Given the description of an element on the screen output the (x, y) to click on. 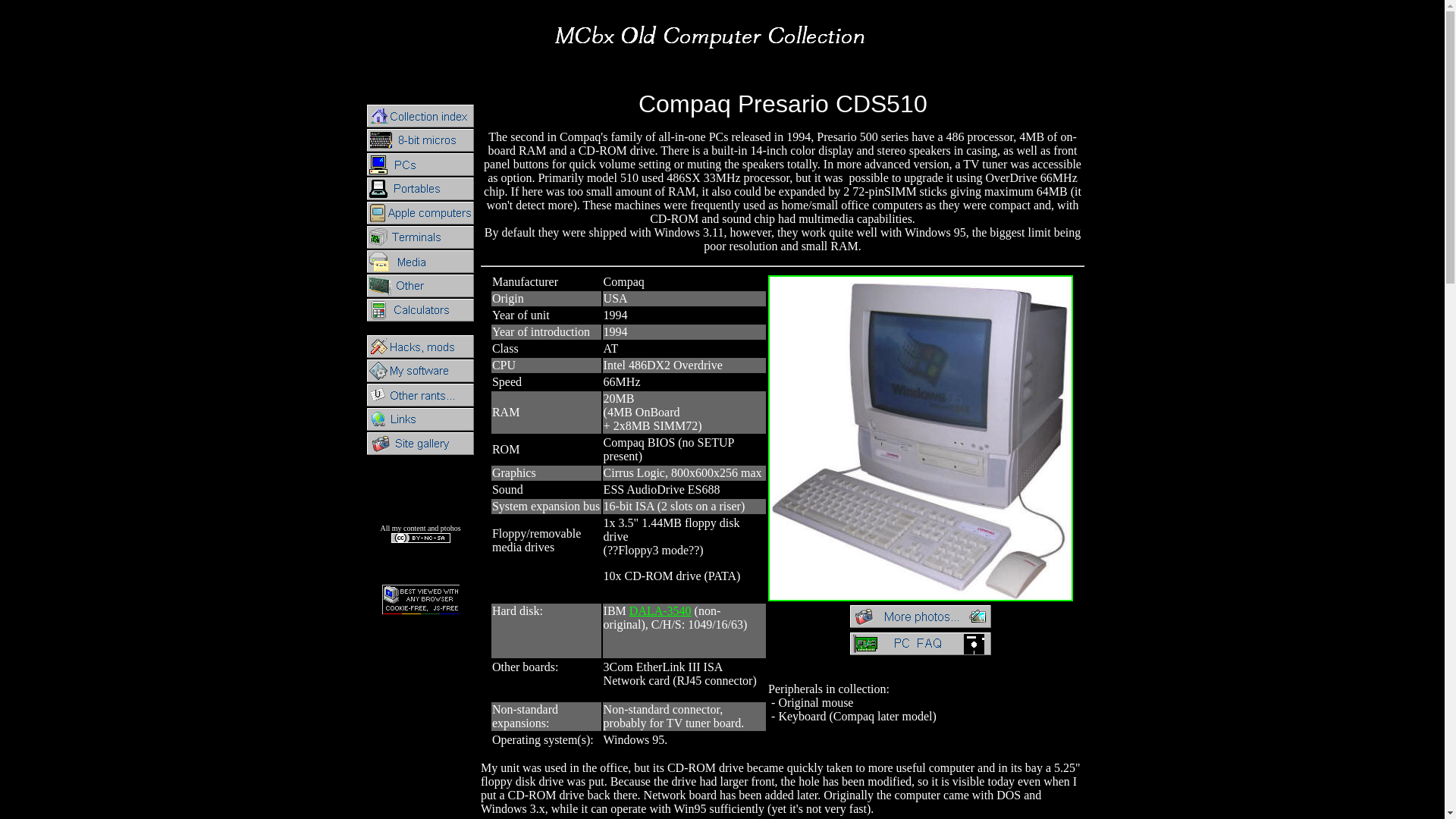
DALA-3540 (659, 610)
